Given the description of an element on the screen output the (x, y) to click on. 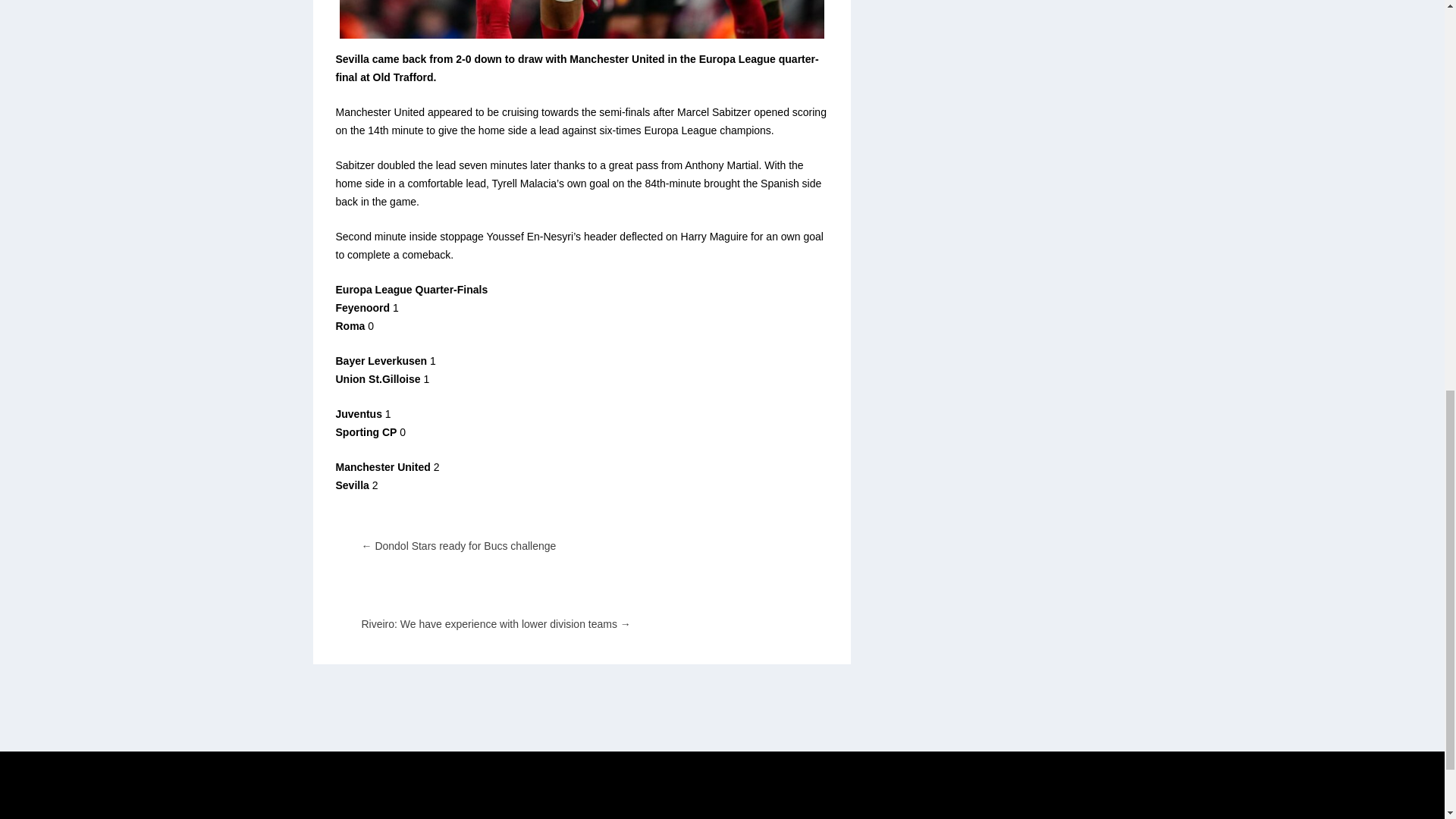
Sevilla (581, 19)
Follow on Twitter (1045, 816)
